Given the description of an element on the screen output the (x, y) to click on. 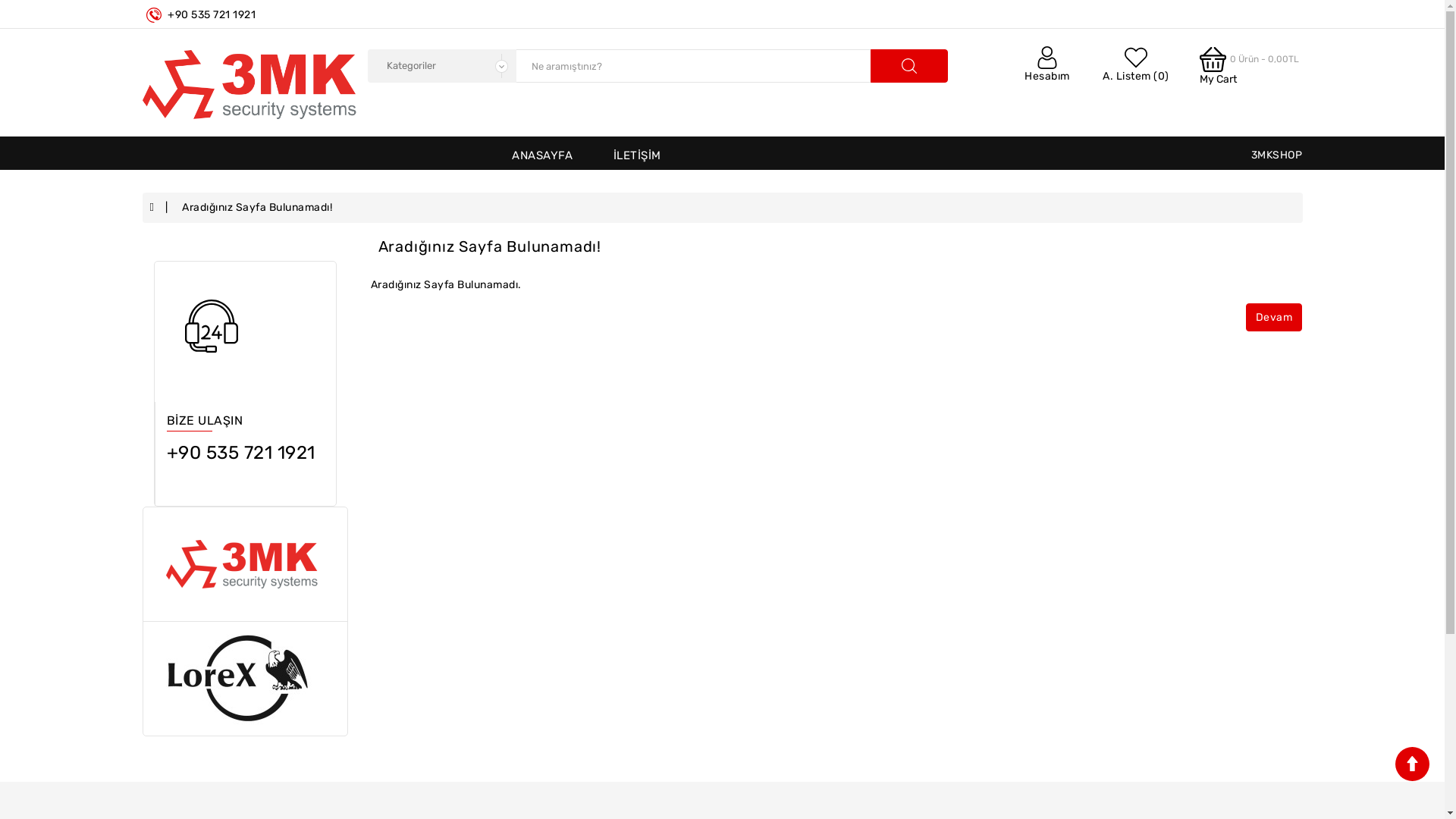
Scroll to Top Element type: hover (1412, 763)
3mkshop Element type: hover (249, 84)
ANASAYFA Element type: text (541, 155)
Search Element type: text (908, 65)
A. Listem (0) Element type: text (1135, 67)
Devam Element type: text (1273, 317)
